Given the description of an element on the screen output the (x, y) to click on. 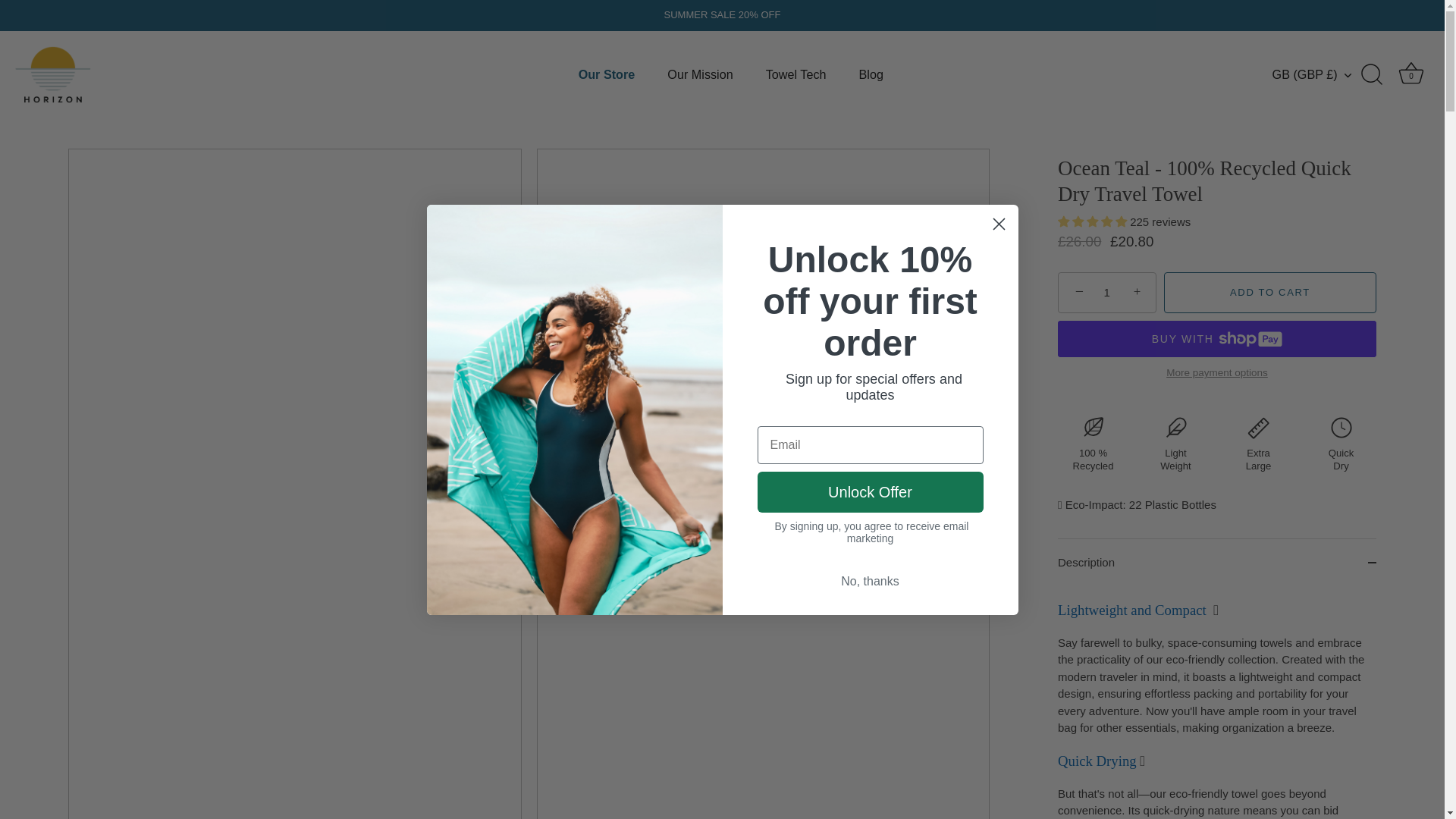
Basket (1410, 72)
Blog (871, 74)
Our Store (606, 74)
Our Mission (700, 74)
Towel Tech (796, 74)
